Given the description of an element on the screen output the (x, y) to click on. 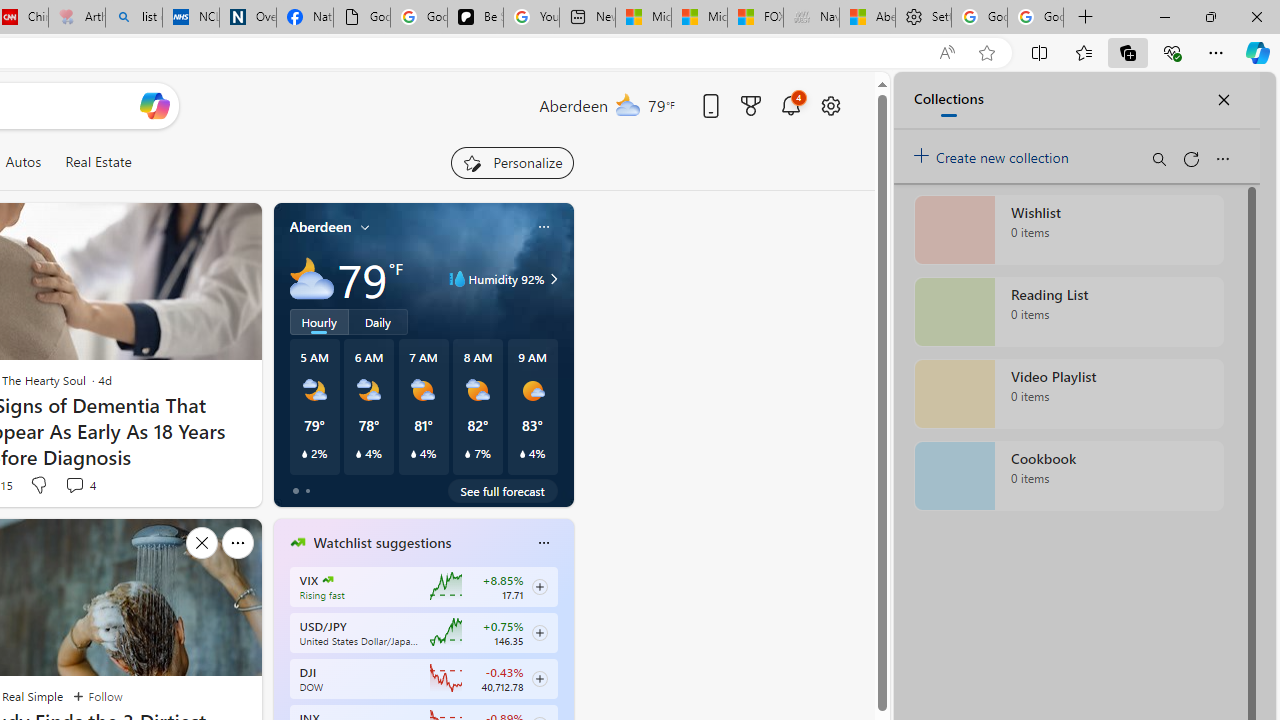
Class: weather-arrow-glyph (554, 278)
You're following Newsweek (197, 490)
